Given the description of an element on the screen output the (x, y) to click on. 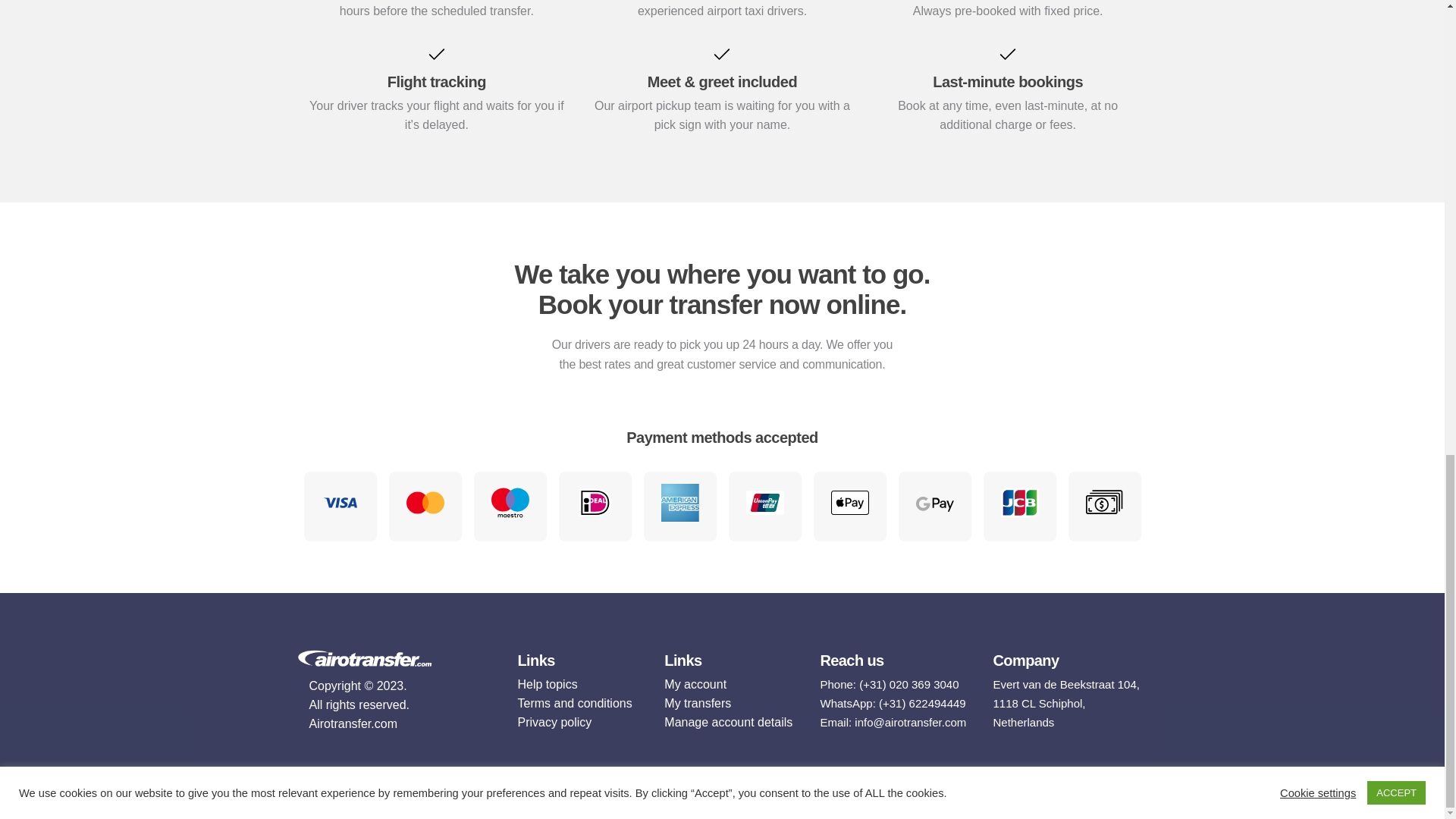
Terms and conditions (579, 702)
Help topics (579, 683)
Privacy policy (579, 722)
My transfers (729, 702)
My account (729, 683)
Manage account details (729, 722)
airotransfer-logo-dark (364, 658)
